Given the description of an element on the screen output the (x, y) to click on. 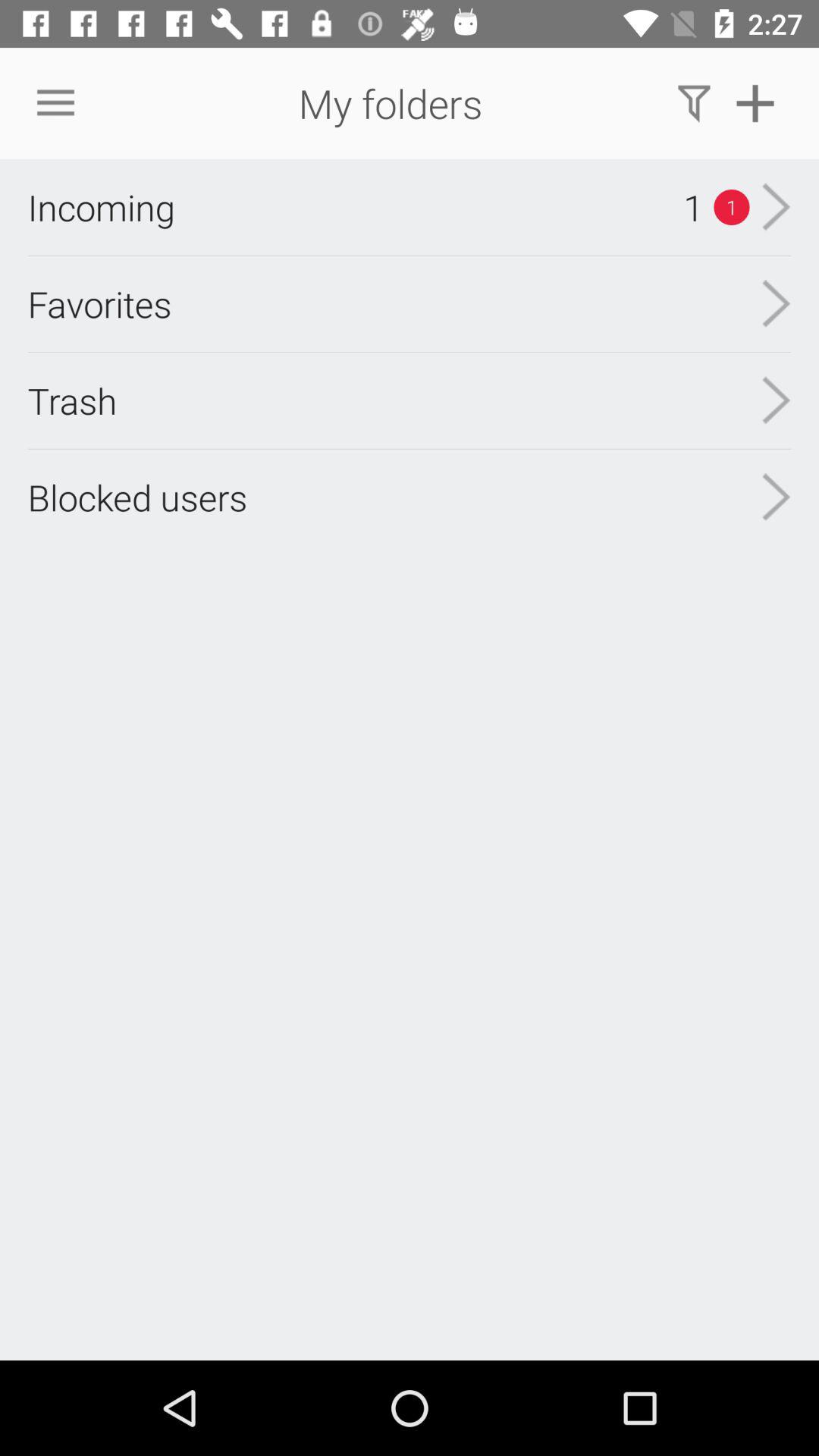
tap the incoming (101, 207)
